Given the description of an element on the screen output the (x, y) to click on. 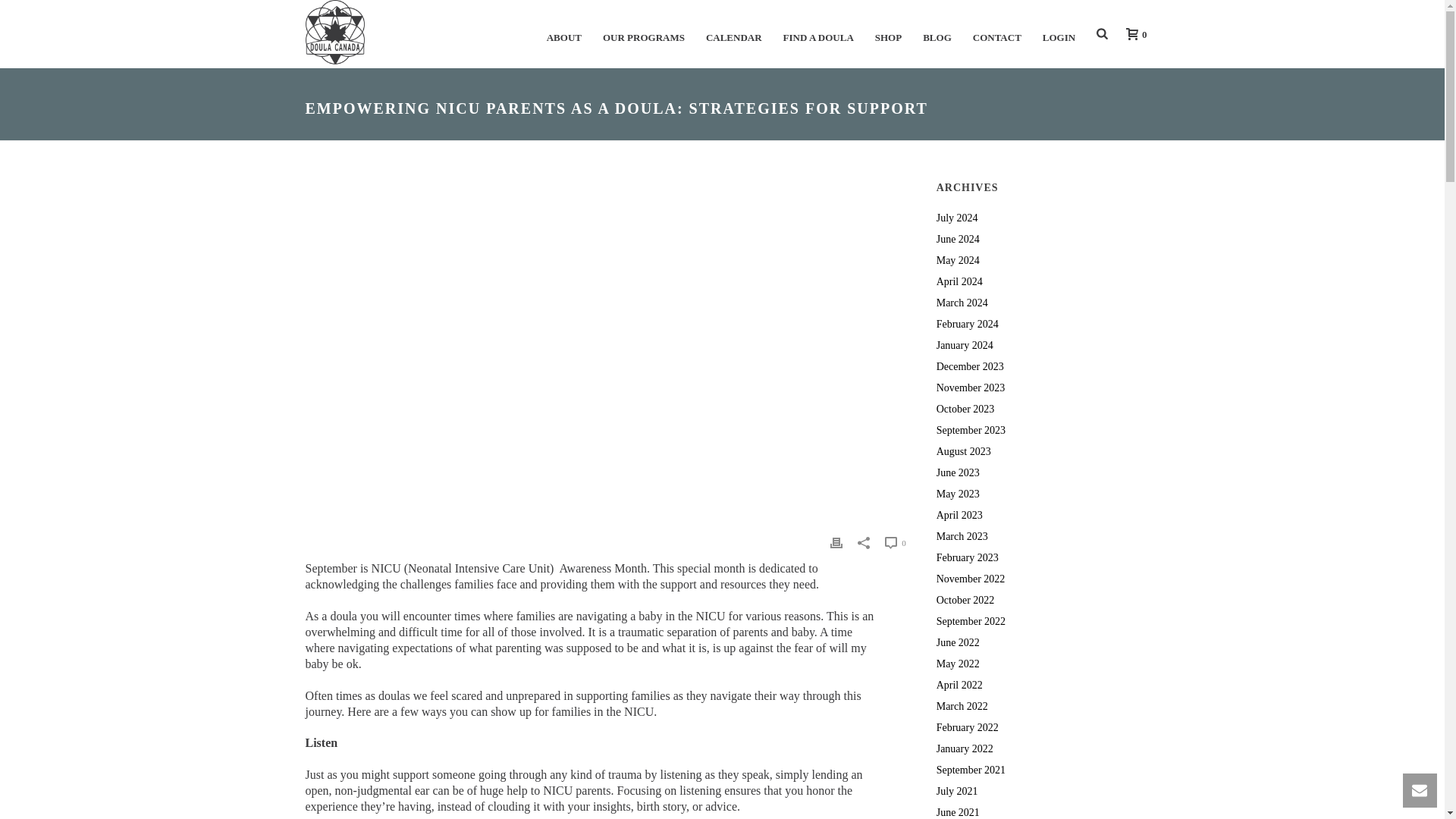
CONTACT (997, 33)
FIND A DOULA (818, 33)
OUR PROGRAMS (643, 33)
CALENDAR (734, 33)
CALENDAR (734, 33)
FIND A DOULA (818, 33)
OUR PROGRAMS (643, 33)
